Given the description of an element on the screen output the (x, y) to click on. 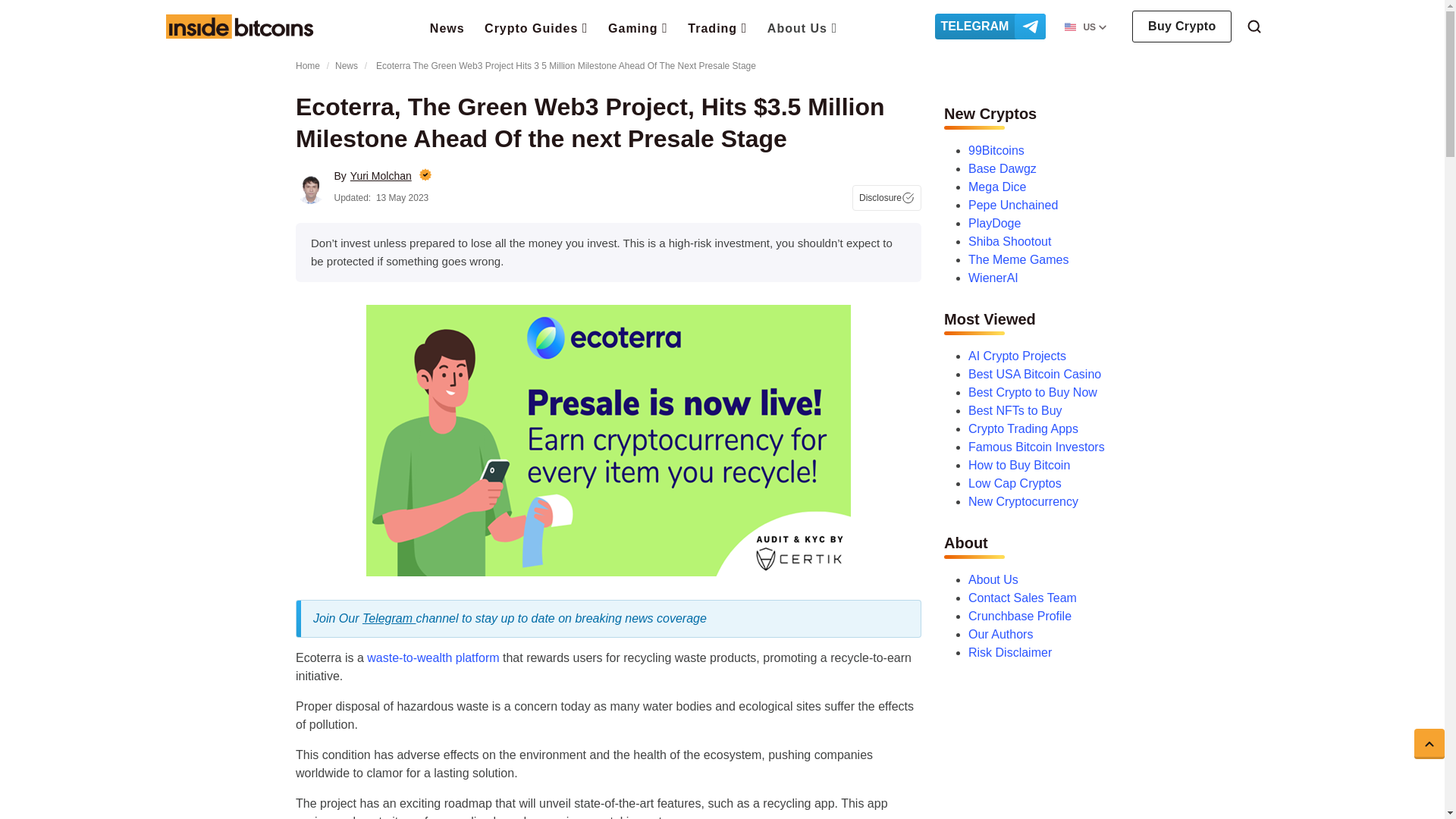
Home (239, 26)
Crypto Guides (536, 26)
